Given the description of an element on the screen output the (x, y) to click on. 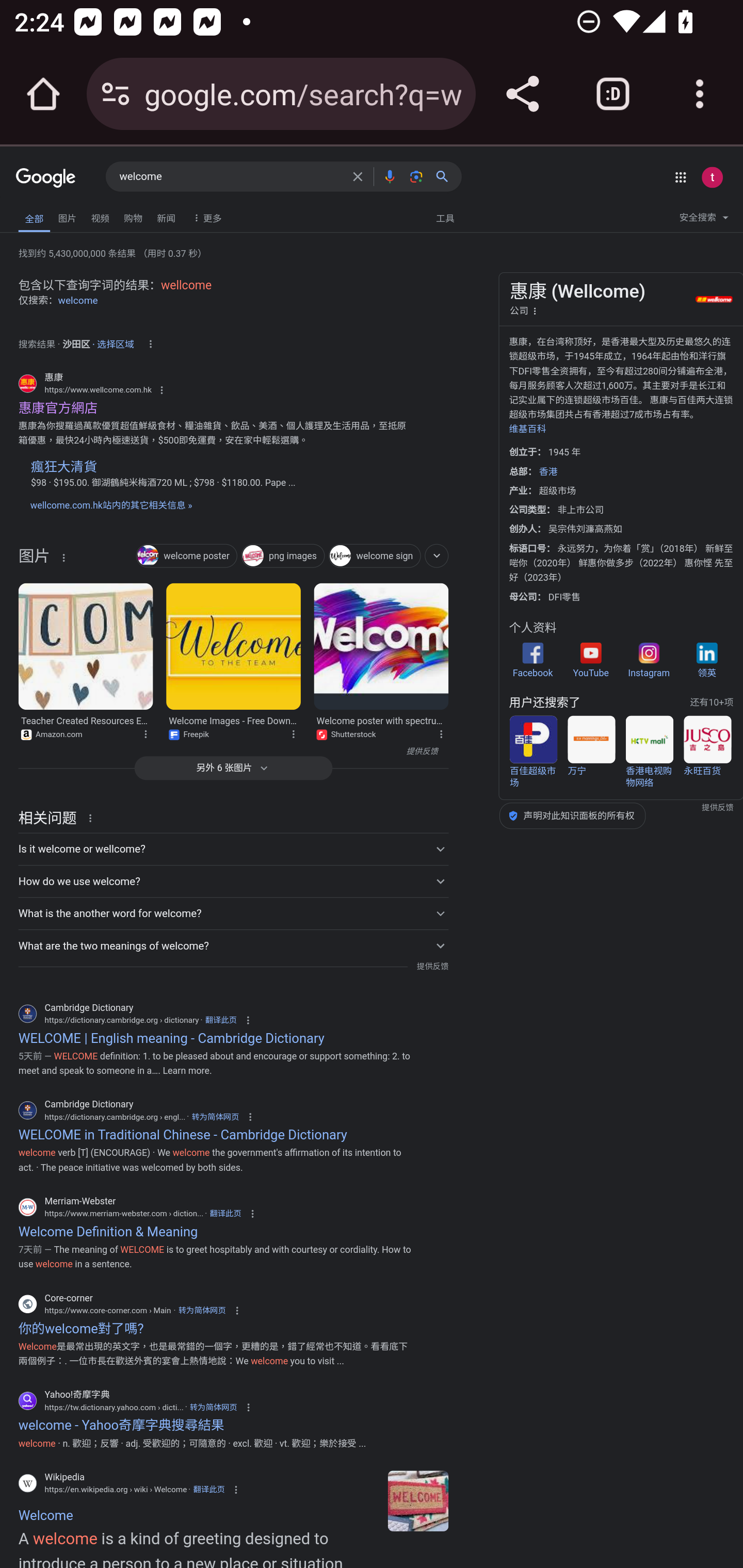
Open the home page (43, 93)
Connection is secure (115, 93)
Share (522, 93)
Switch or close tabs (612, 93)
Customize and control Google Chrome (699, 93)
清除 (357, 176)
按语音搜索 (389, 176)
按图搜索 (415, 176)
搜索 (446, 176)
Google 应用 (680, 176)
Google 账号： test appium (testappium002@gmail.com) (712, 176)
Google (45, 178)
welcome (229, 177)
无障碍功能反馈 (42, 212)
图片 (67, 216)
视频 (99, 216)
购物 (133, 216)
新闻 (166, 216)
更多 (205, 216)
安全搜索 (703, 219)
工具 (444, 216)
wellcome (185, 285)
welcome (77, 299)
选择区域 (115, 341)
位置信息使用方式 (149, 343)
瘋狂大清貨 (62, 466)
wellcome.com.hk站内的其它相关信息 » (110, 505)
图片 (33, 559)
welcome poster (186, 556)
png images (282, 556)
welcome sign (374, 556)
按功能过滤 (436, 554)
关于这条结果的详细信息 (62, 557)
Welcome Images - Free Download on Freepik (233, 646)
关于这条结果的详细信息 (148, 732)
关于这条结果的详细信息 (296, 732)
关于这条结果的详细信息 (444, 732)
另外 6 张图片 (232, 767)
关于这条结果的详细信息 (93, 817)
Is it welcome or wellcome? (232, 848)
How do we use welcome? (232, 880)
What is the another word for welcome? (232, 912)
What are the two meanings of welcome? (232, 945)
提供反馈 (432, 966)
翻译此页 (220, 1020)
转为简体网页 (214, 1116)
翻译此页 (225, 1213)
转为简体网页 (201, 1310)
转为简体网页 (212, 1406)
Welcome (417, 1500)
翻译此页 (208, 1489)
